Given the description of an element on the screen output the (x, y) to click on. 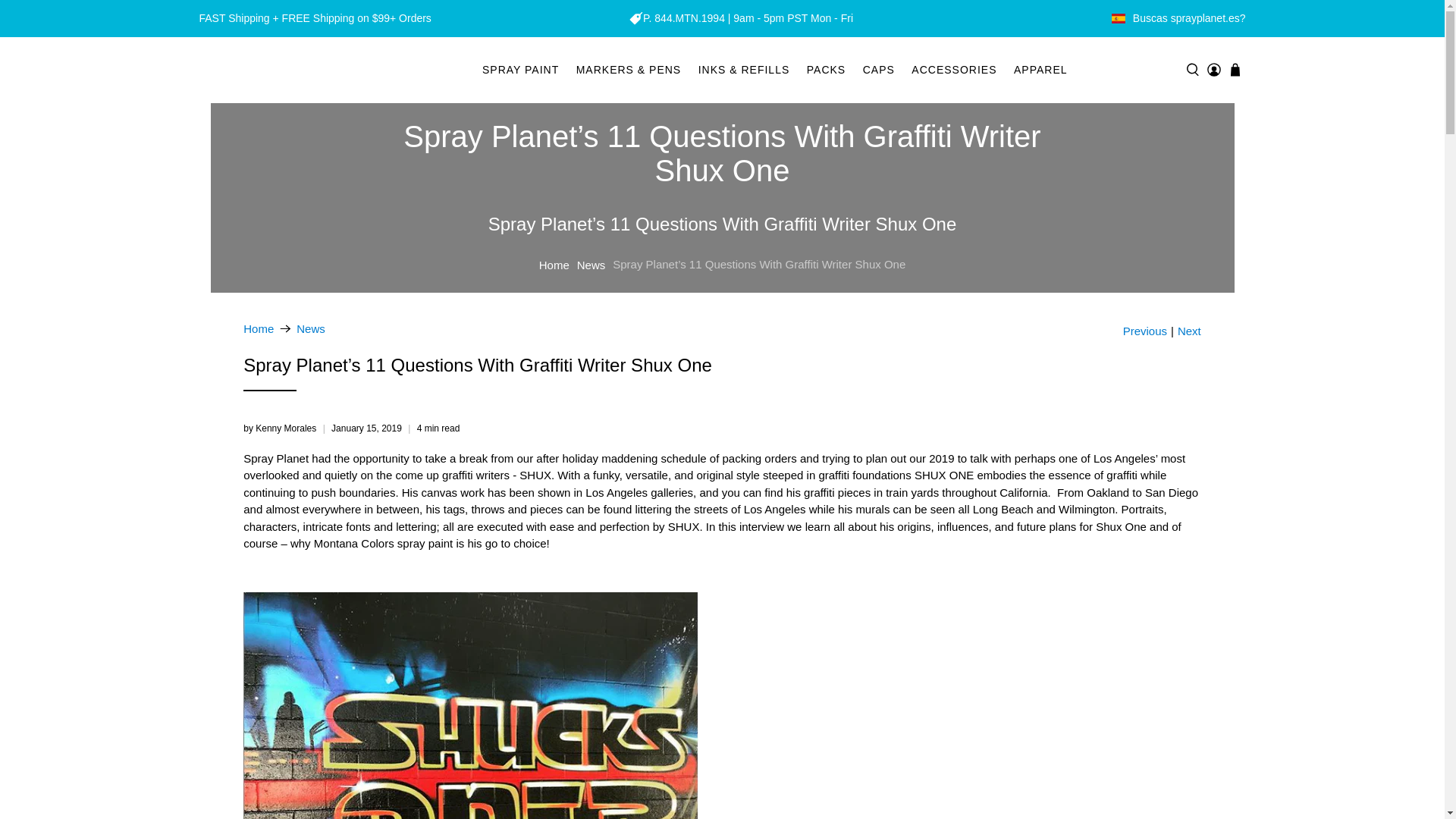
SPRAY PAINT (520, 69)
News (310, 328)
ACCESSORIES (954, 69)
sprayplanet (283, 69)
PACKS (825, 69)
APPAREL (1040, 69)
Next (1189, 330)
CAPS (877, 69)
Previous (1144, 330)
sprayplanet (258, 328)
Buscas sprayplanet.es? (1189, 18)
